Given the description of an element on the screen output the (x, y) to click on. 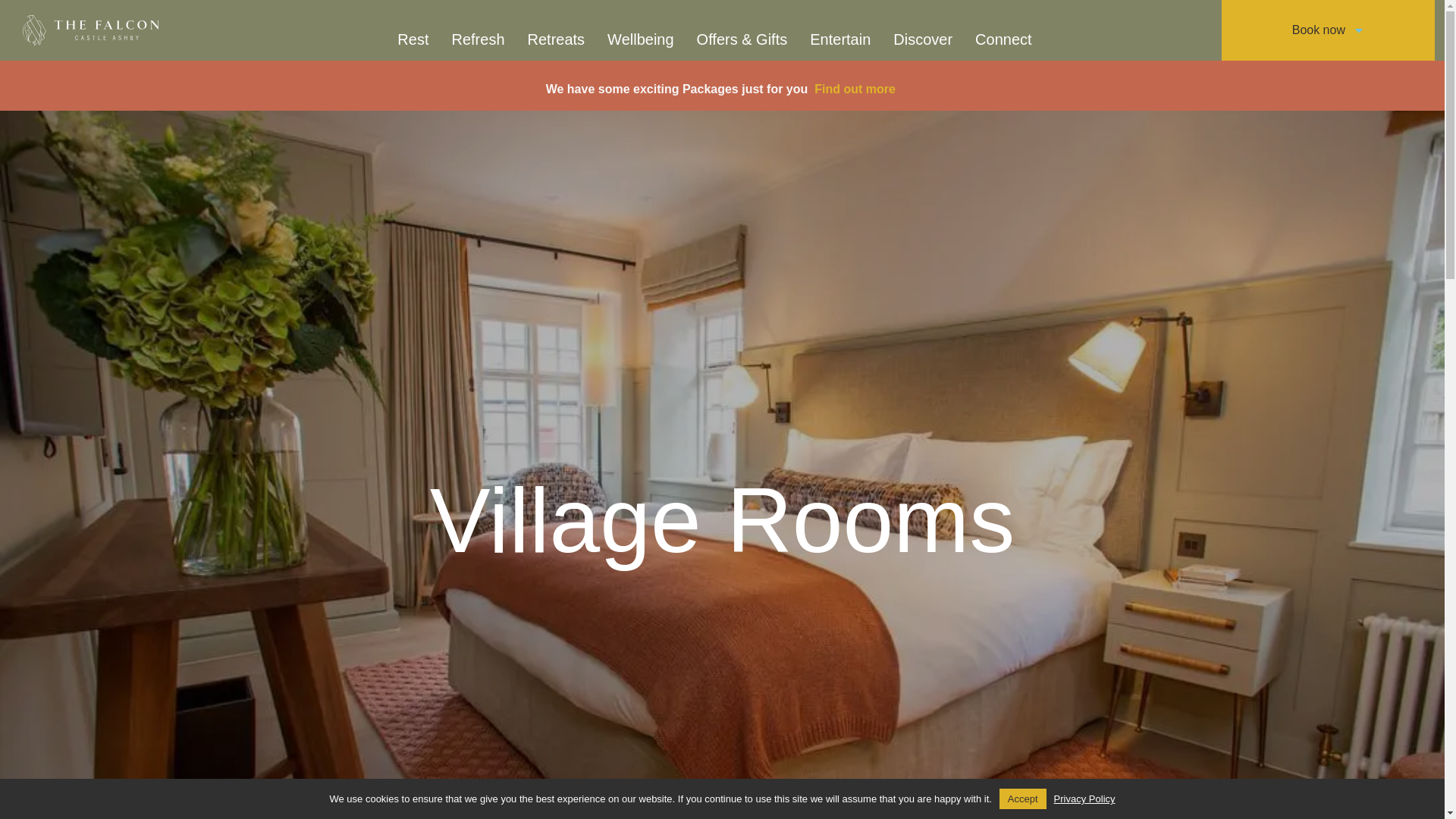
Wellbeing (639, 39)
Retreats (556, 39)
Discover (922, 39)
Entertain (839, 39)
Refresh (477, 39)
Connect (1003, 39)
Book now (1327, 30)
